Given the description of an element on the screen output the (x, y) to click on. 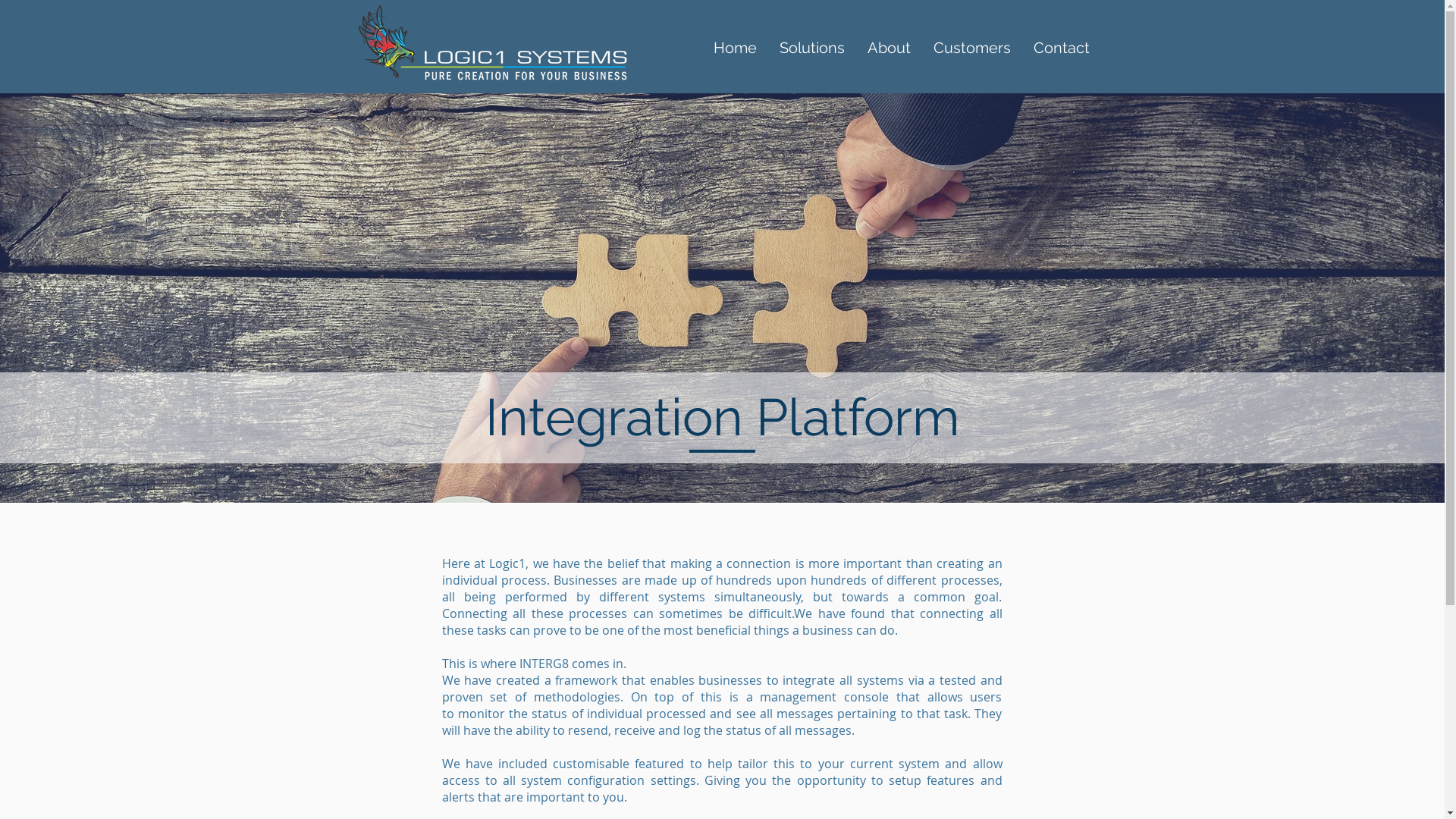
About Element type: text (888, 45)
Customers Element type: text (972, 45)
Contact Element type: text (1061, 45)
Home Element type: text (735, 45)
